Given the description of an element on the screen output the (x, y) to click on. 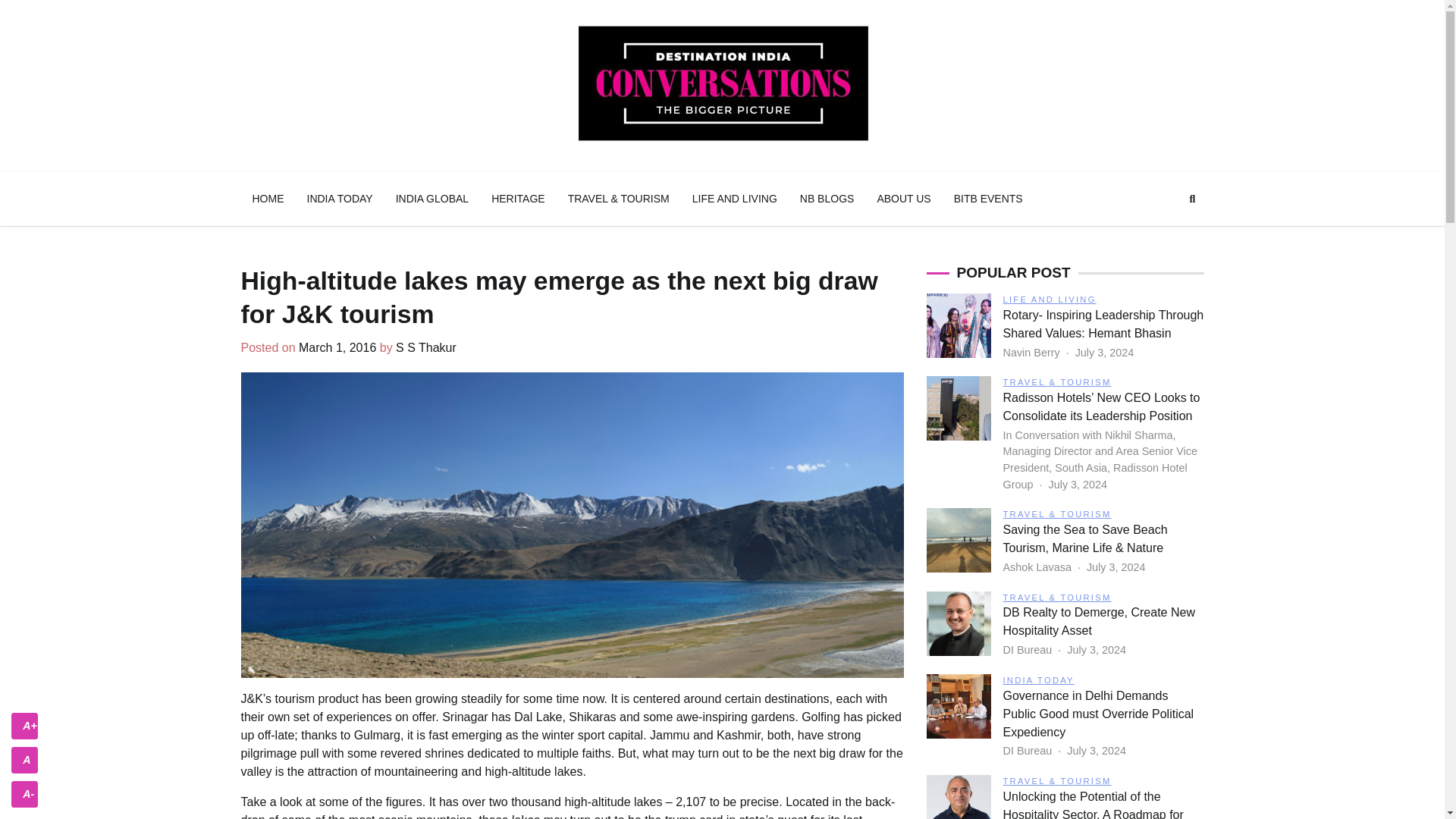
INDIA GLOBAL (432, 198)
NB BLOGS (827, 198)
LIFE AND LIVING (1049, 298)
S S Thakur (426, 347)
Search (1192, 199)
Navin Berry (1032, 352)
HERITAGE (518, 198)
BITB EVENTS (987, 198)
HOME (268, 198)
March 1, 2016 (336, 347)
July 3, 2024 (1104, 352)
INDIA TODAY (339, 198)
LIFE AND LIVING (735, 198)
ABOUT US (903, 198)
